Given the description of an element on the screen output the (x, y) to click on. 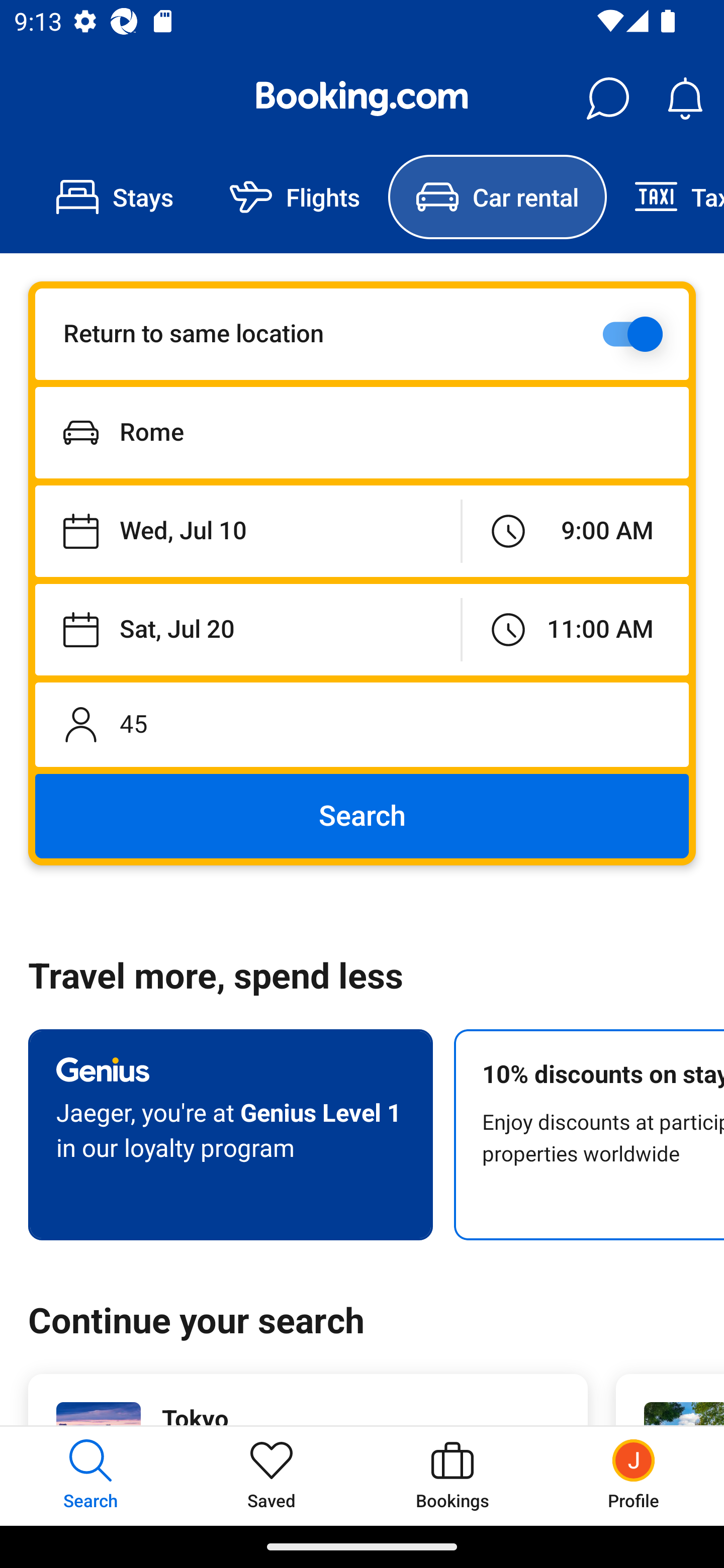
Messages (607, 98)
Notifications (685, 98)
Stays (114, 197)
Flights (294, 197)
Car rental (497, 197)
Taxi (665, 197)
Pick-up location: Text(name=Rome) (361, 432)
Pick-up date: 2024-07-10 (247, 531)
Pick-up time: 09:00:00.000 (575, 531)
Drop-off date: 2024-07-20 (247, 629)
Drop-off time: 11:00:00.000 (575, 629)
Driver's age: 45 (361, 724)
Search (361, 815)
Saved (271, 1475)
Bookings (452, 1475)
Profile (633, 1475)
